Given the description of an element on the screen output the (x, y) to click on. 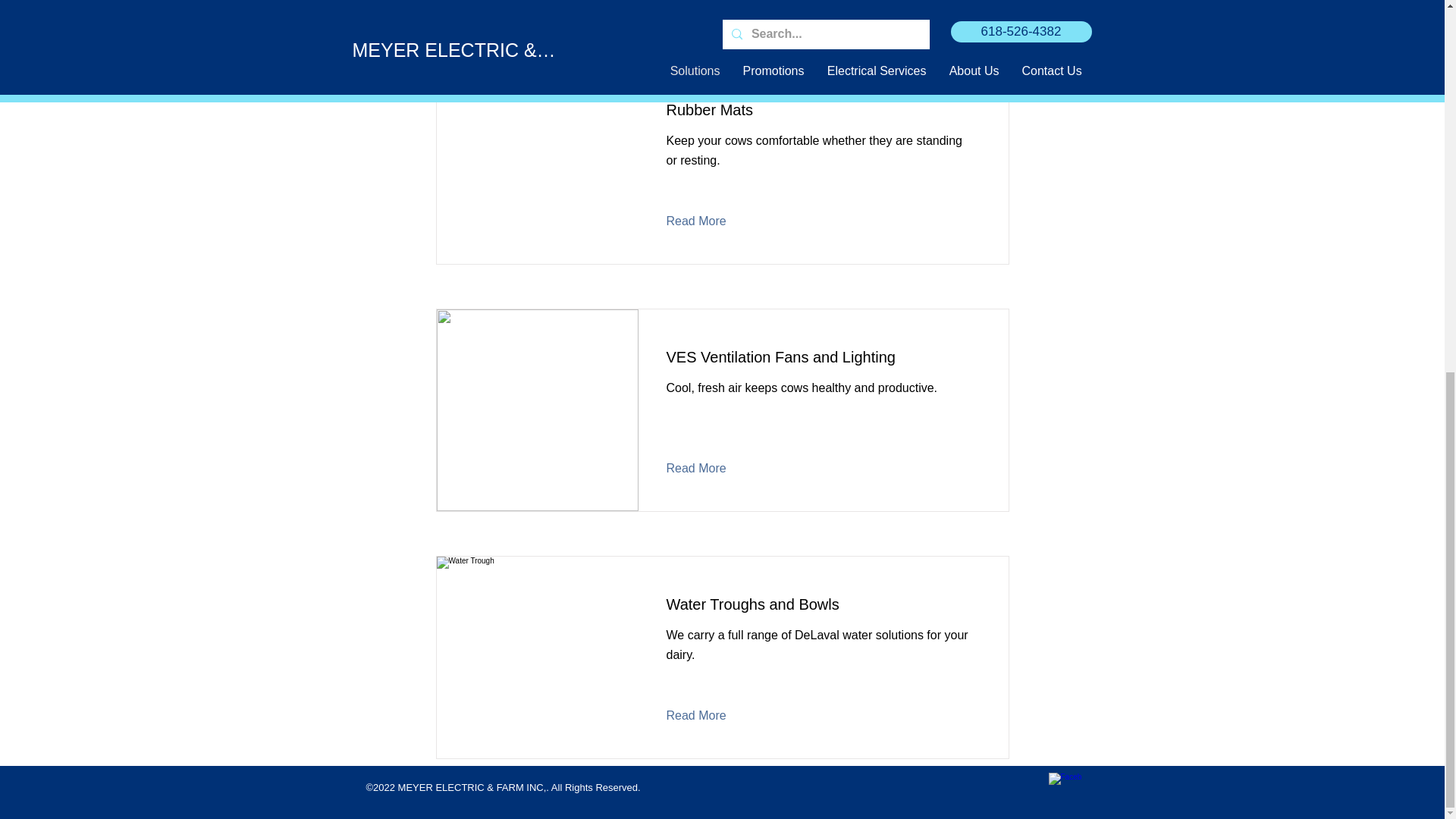
macro-air-fan.png (537, 8)
t400-us.jpeg (537, 657)
Read More (706, 715)
rubbermat-rm30f-master2.jpeg (537, 162)
Read More (706, 468)
Read More (706, 220)
